Given the description of an element on the screen output the (x, y) to click on. 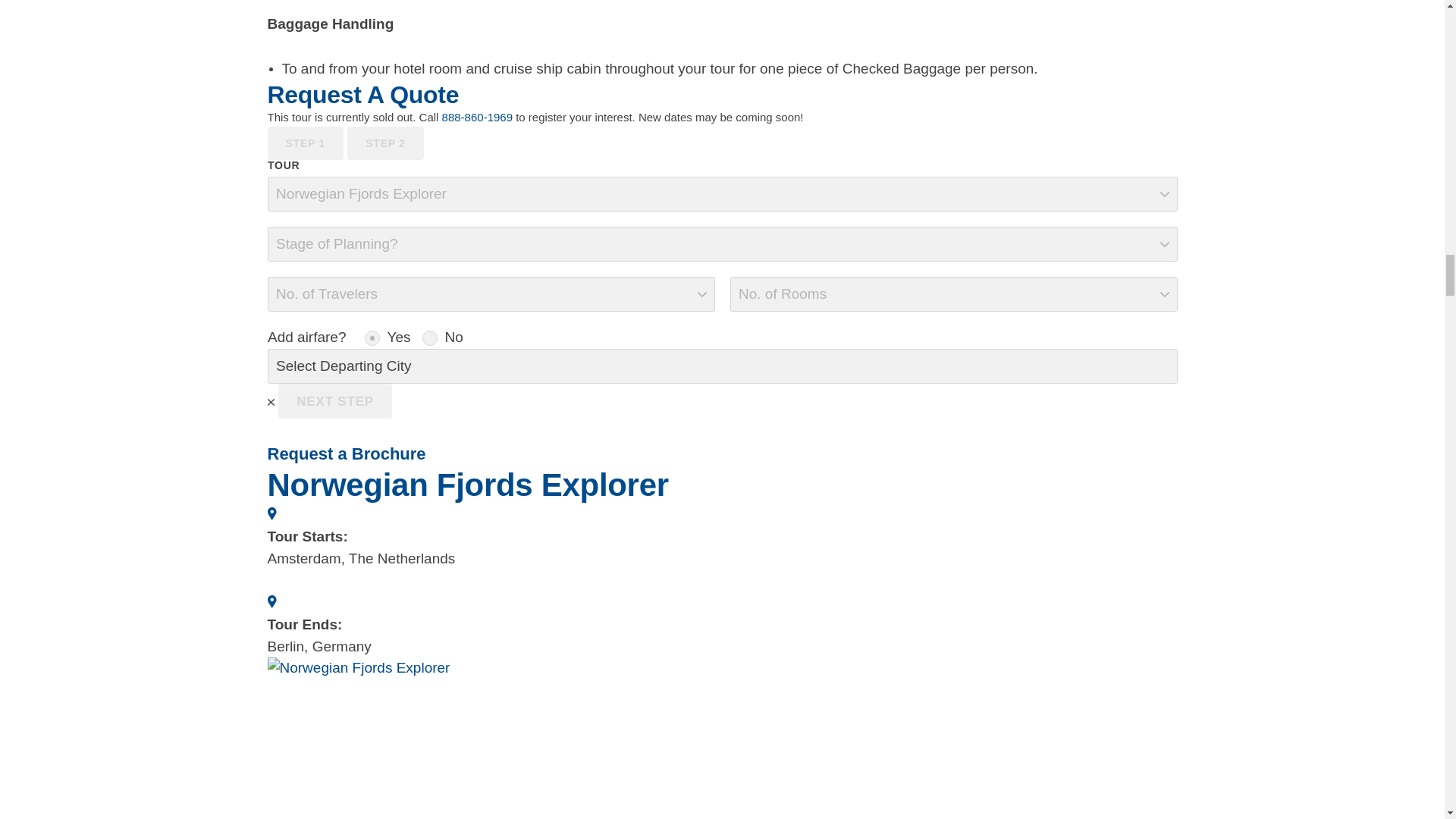
Yes (371, 337)
No (429, 337)
